Given the description of an element on the screen output the (x, y) to click on. 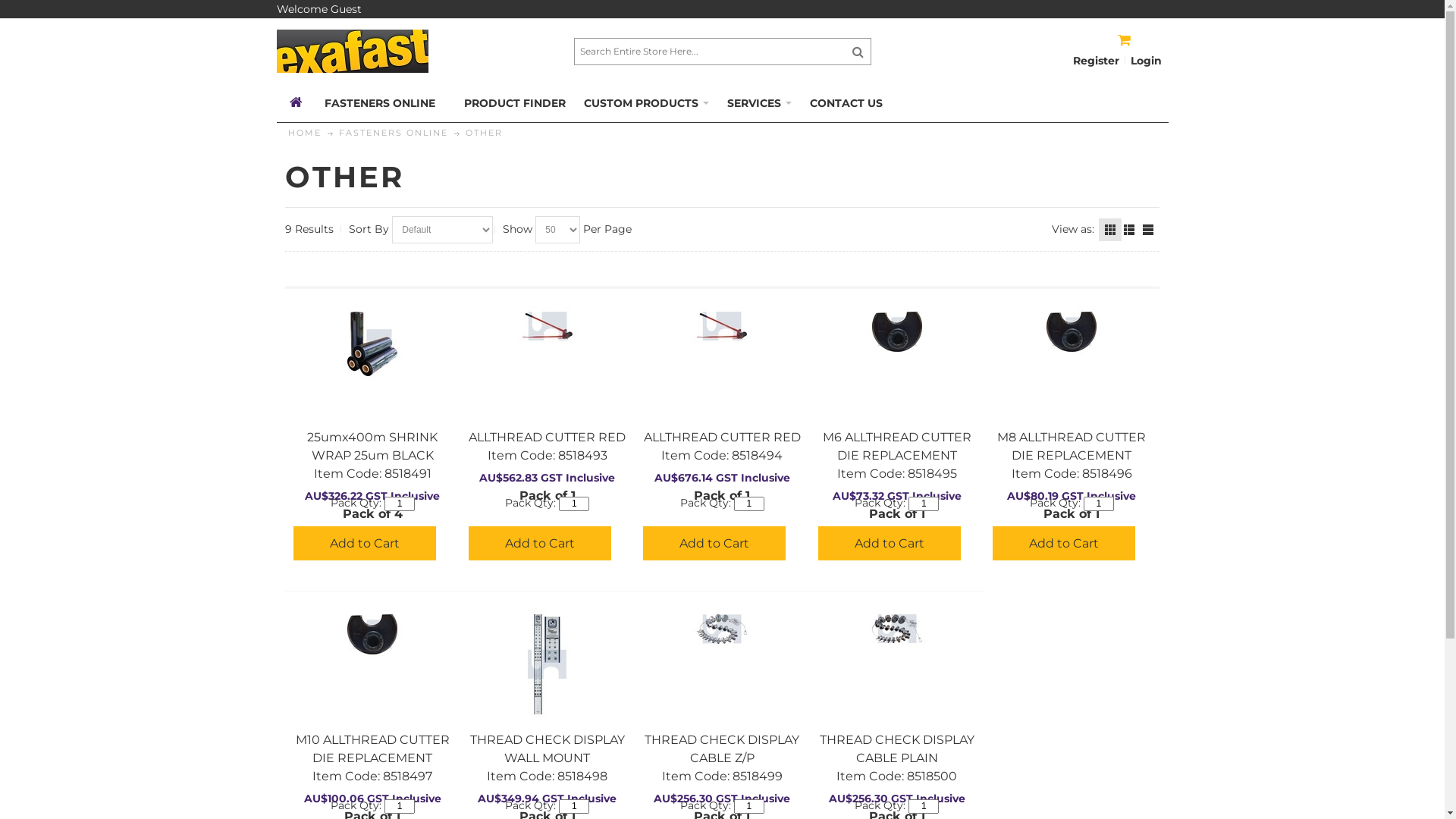
Line Element type: hover (1147, 229)
THREAD CHECK DISPLAY CABLE PLAIN Element type: text (896, 748)
M10 ALLTHREAD CUTTER DIE REPLACEMENT Element type: text (372, 748)
SERVICES   Element type: text (758, 103)
Check the items in your Cart Element type: hover (1143, 34)
THREAD CHECK DISPLAY CABLE Z/P Element type: hover (721, 628)
M8 ALLTHREAD CUTTER DIE REPLACEMENT Element type: hover (1071, 331)
THREAD CHECK DISPLAY CABLE PLAIN Element type: hover (896, 628)
M6 ALLTHREAD CUTTER DIE REPLACEMENT Element type: text (896, 445)
25umx400m SHRINK WRAP 25um BLACK Element type: hover (372, 343)
M8 ALLTHREAD CUTTER DIE REPLACEMENT Element type: text (1071, 445)
M10 ALLTHREAD CUTTER DIE REPLACEMENT Element type: hover (372, 633)
THREAD CHECK DISPLAY WALL MOUNT Element type: text (547, 748)
CONTACT US Element type: text (845, 103)
25umx400m SHRINK WRAP 25um BLACK Element type: text (372, 445)
PRODUCT FINDER Element type: text (514, 103)
Grid Element type: hover (1109, 229)
FASTENERS ONLINE Element type: text (393, 131)
Search Element type: hover (857, 51)
FASTENERS ONLINE   Element type: text (384, 103)
Register Element type: text (1095, 60)
Login Element type: text (1145, 60)
Add to Cart Element type: text (364, 543)
Add to Cart Element type: text (714, 543)
THREAD CHECK DISPLAY CABLE Z/P Element type: text (721, 748)
Add to Cart Element type: text (539, 543)
ALLTHREAD CUTTER RED Element type: text (721, 436)
List Element type: hover (1128, 229)
CUSTOM PRODUCTS   Element type: text (645, 103)
M6 ALLTHREAD CUTTER DIE REPLACEMENT Element type: hover (896, 331)
THREAD CHECK DISPLAY WALL MOUNT Element type: hover (546, 663)
HOME Element type: text (304, 131)
ALLTHREAD CUTTER RED Element type: text (546, 436)
Add to Cart Element type: text (1063, 543)
ALLTHREAD CUTTER RED Element type: hover (721, 325)
OTHER Element type: text (483, 131)
ALLTHREAD CUTTER RED Element type: hover (546, 325)
Add to Cart Element type: text (889, 543)
